Given the description of an element on the screen output the (x, y) to click on. 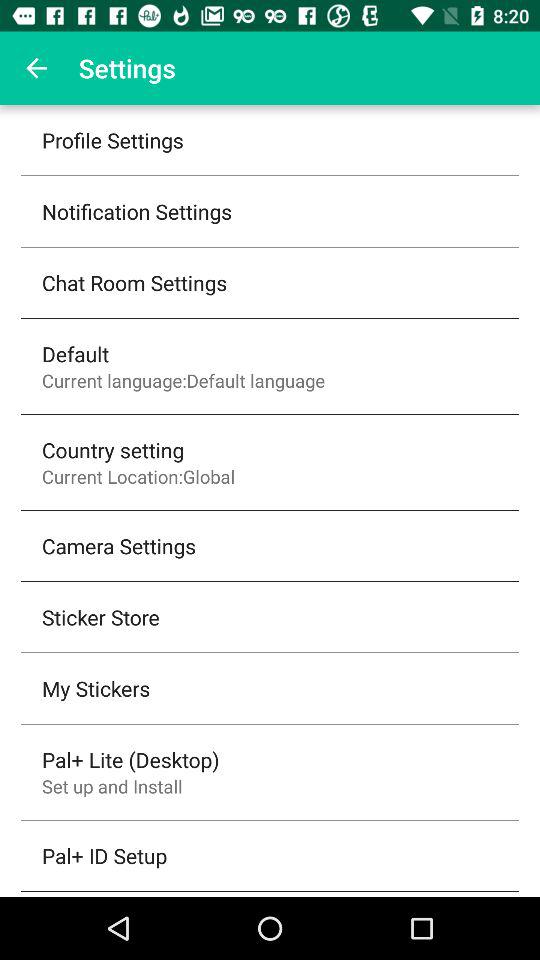
select my stickers icon (96, 688)
